Given the description of an element on the screen output the (x, y) to click on. 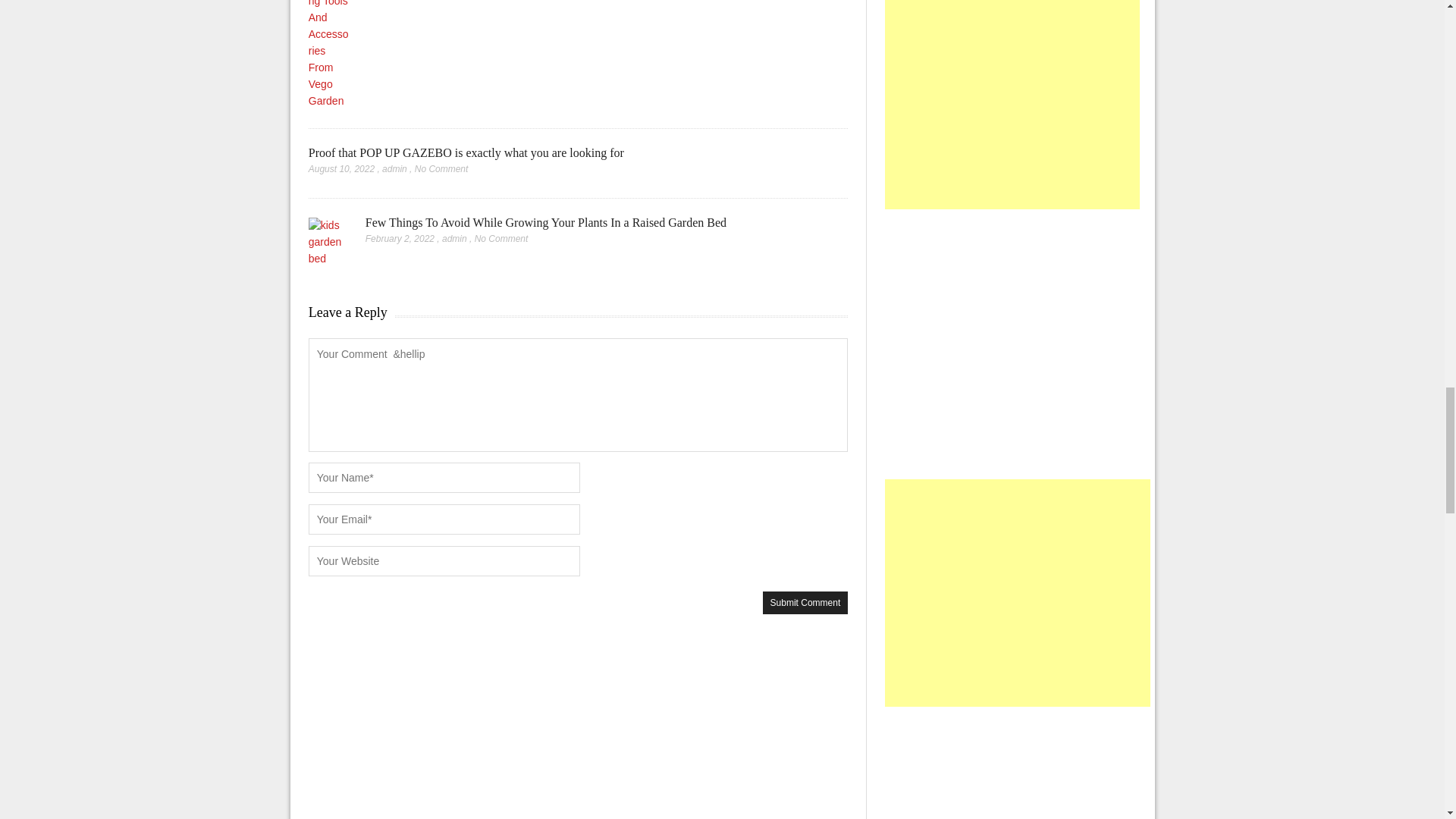
admin (394, 168)
Proof that POP UP GAZEBO is exactly what you are looking for (466, 152)
Posts by admin (394, 168)
No Comment (501, 238)
admin (454, 238)
No Comment (441, 168)
Submit Comment (805, 602)
Proof that POP UP GAZEBO is exactly what you are looking for (466, 152)
Posts by admin (454, 238)
Submit Comment (805, 602)
